Given the description of an element on the screen output the (x, y) to click on. 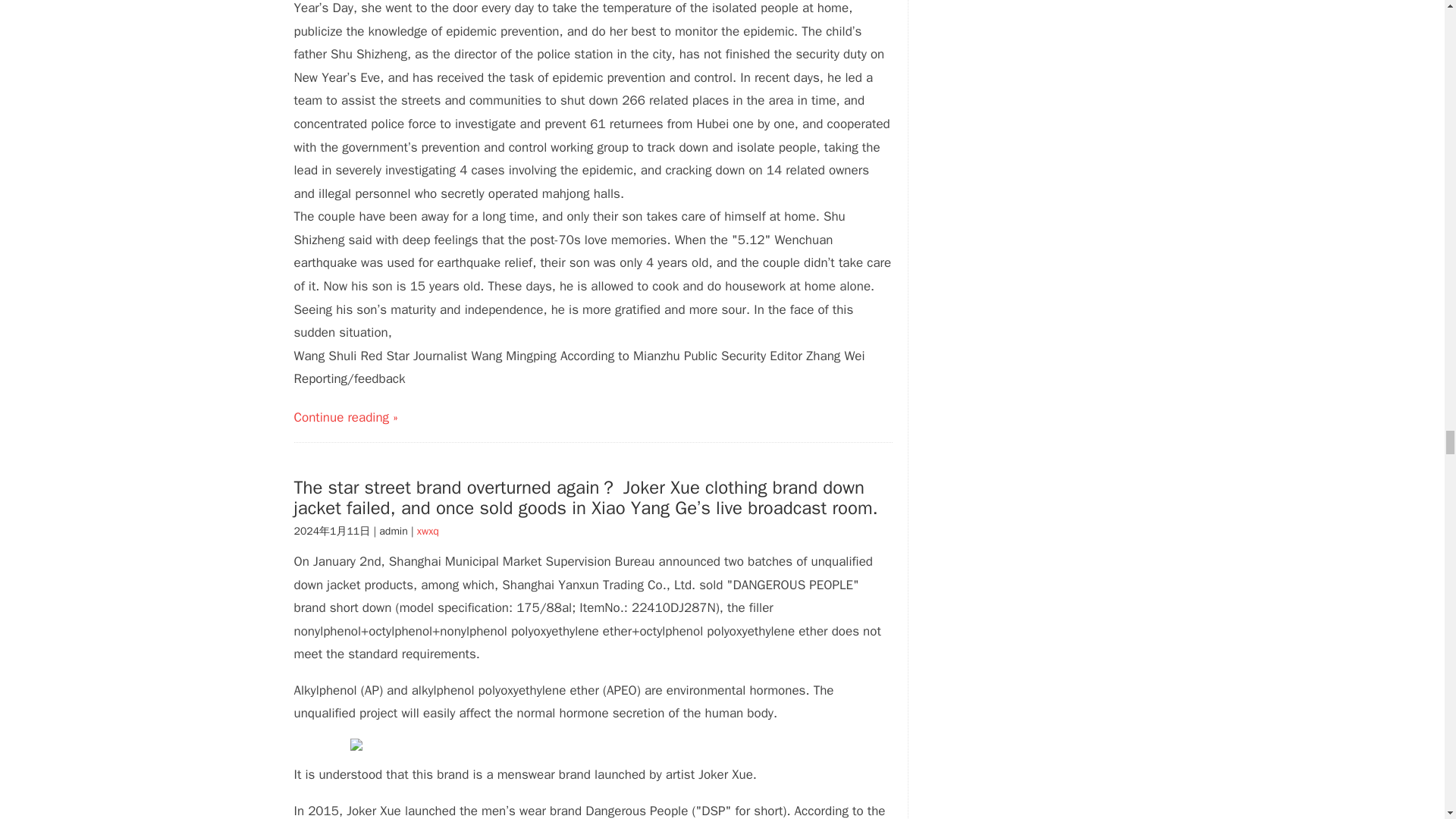
xwxq (427, 530)
